Given the description of an element on the screen output the (x, y) to click on. 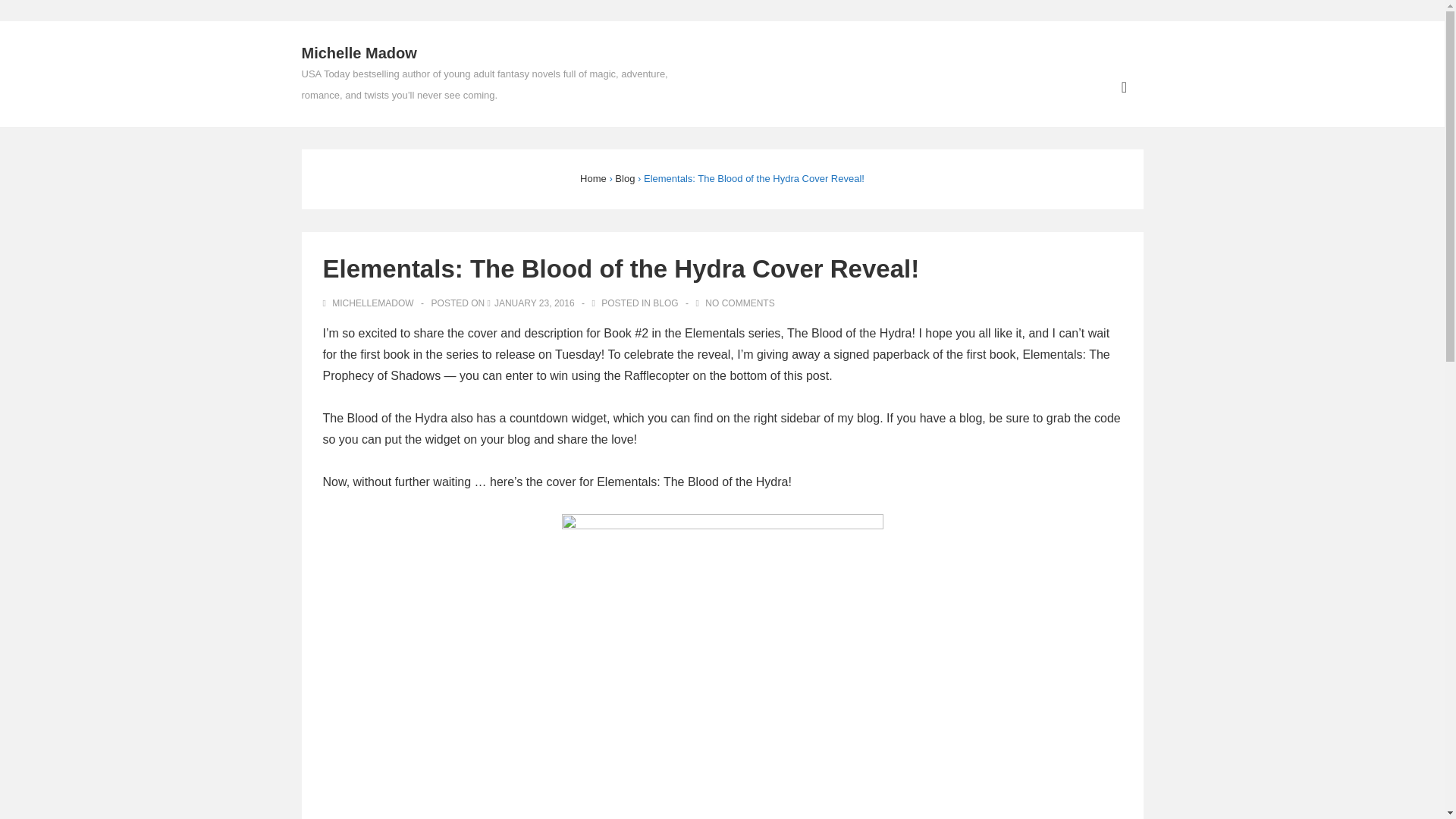
MICHELLEMADOW (369, 303)
View all posts by michellemadow (369, 303)
Home (593, 178)
Blog (624, 178)
Elementals: The Blood of the Hydra Cover Reveal! (535, 303)
Menu (1123, 87)
JANUARY 23, 2016 (535, 303)
BLOG (665, 303)
Michelle Madow (358, 53)
NO COMMENTS (739, 303)
